Given the description of an element on the screen output the (x, y) to click on. 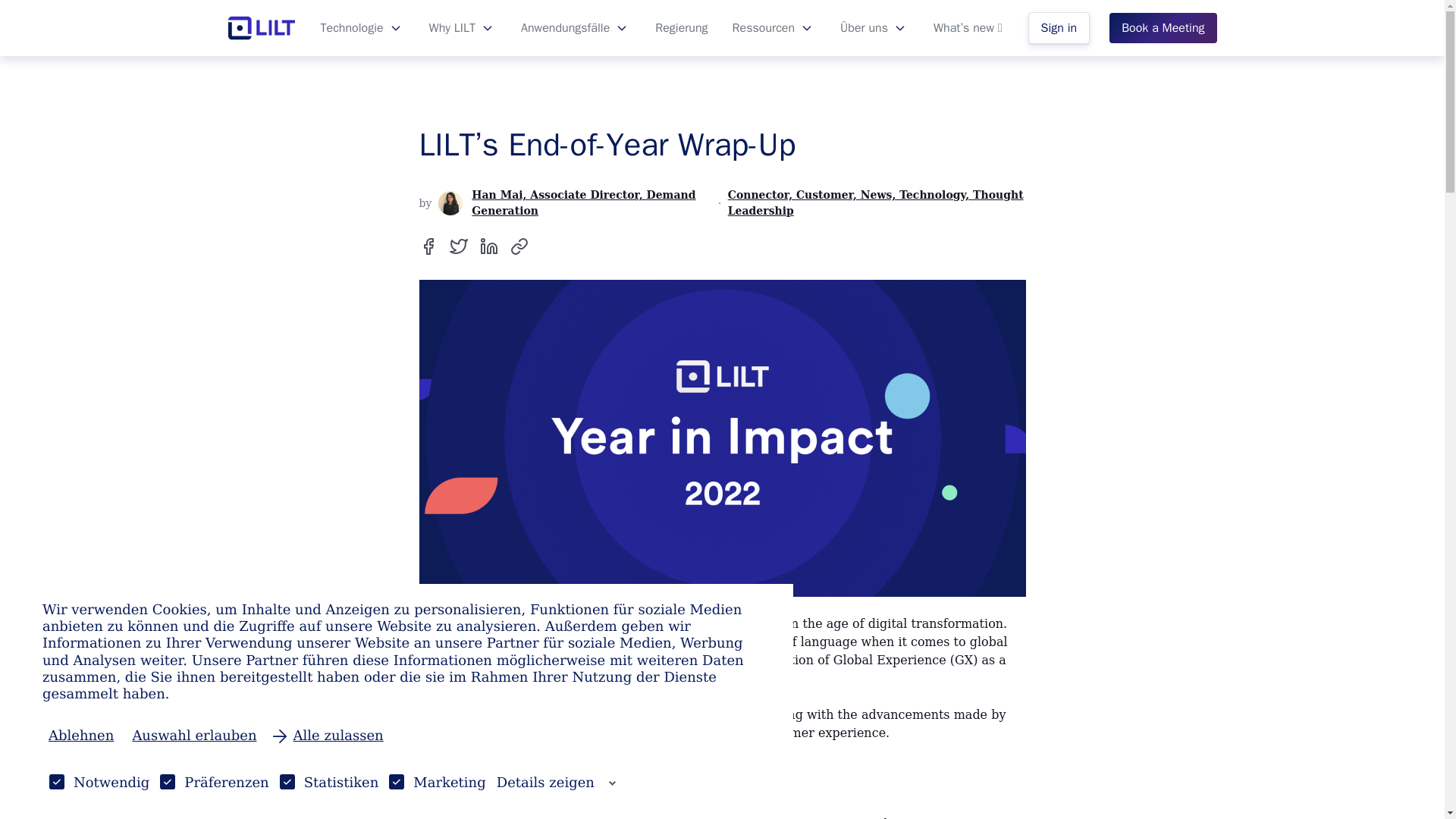
Ablehnen (80, 736)
Auswahl erlauben (193, 736)
Alle zulassen (329, 736)
Details zeigen (555, 782)
